Given the description of an element on the screen output the (x, y) to click on. 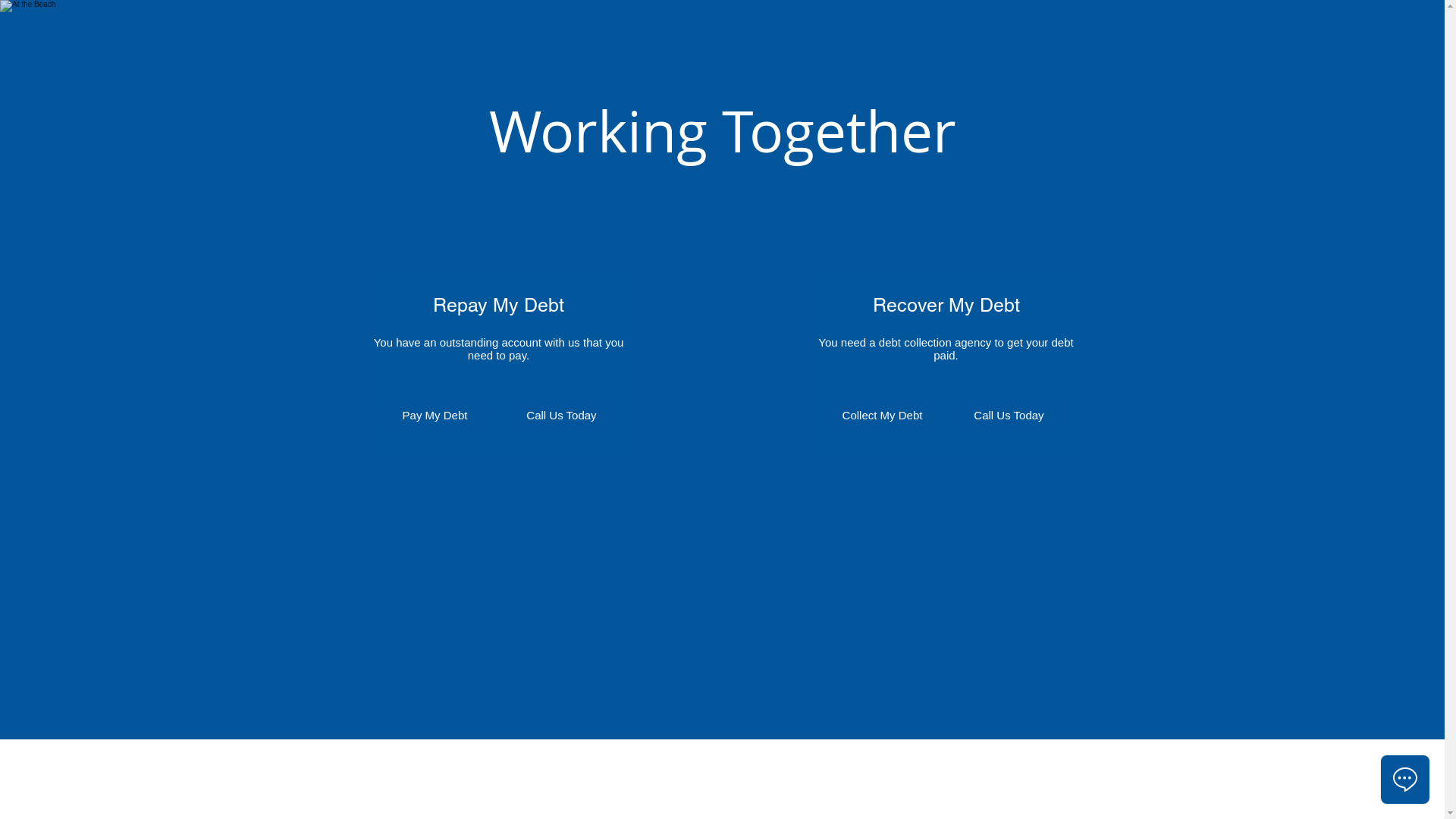
Collect My Debt Element type: text (881, 414)
Pay My Debt Element type: text (434, 414)
Call Us Today Element type: text (1009, 414)
Call Us Today Element type: text (561, 414)
